Given the description of an element on the screen output the (x, y) to click on. 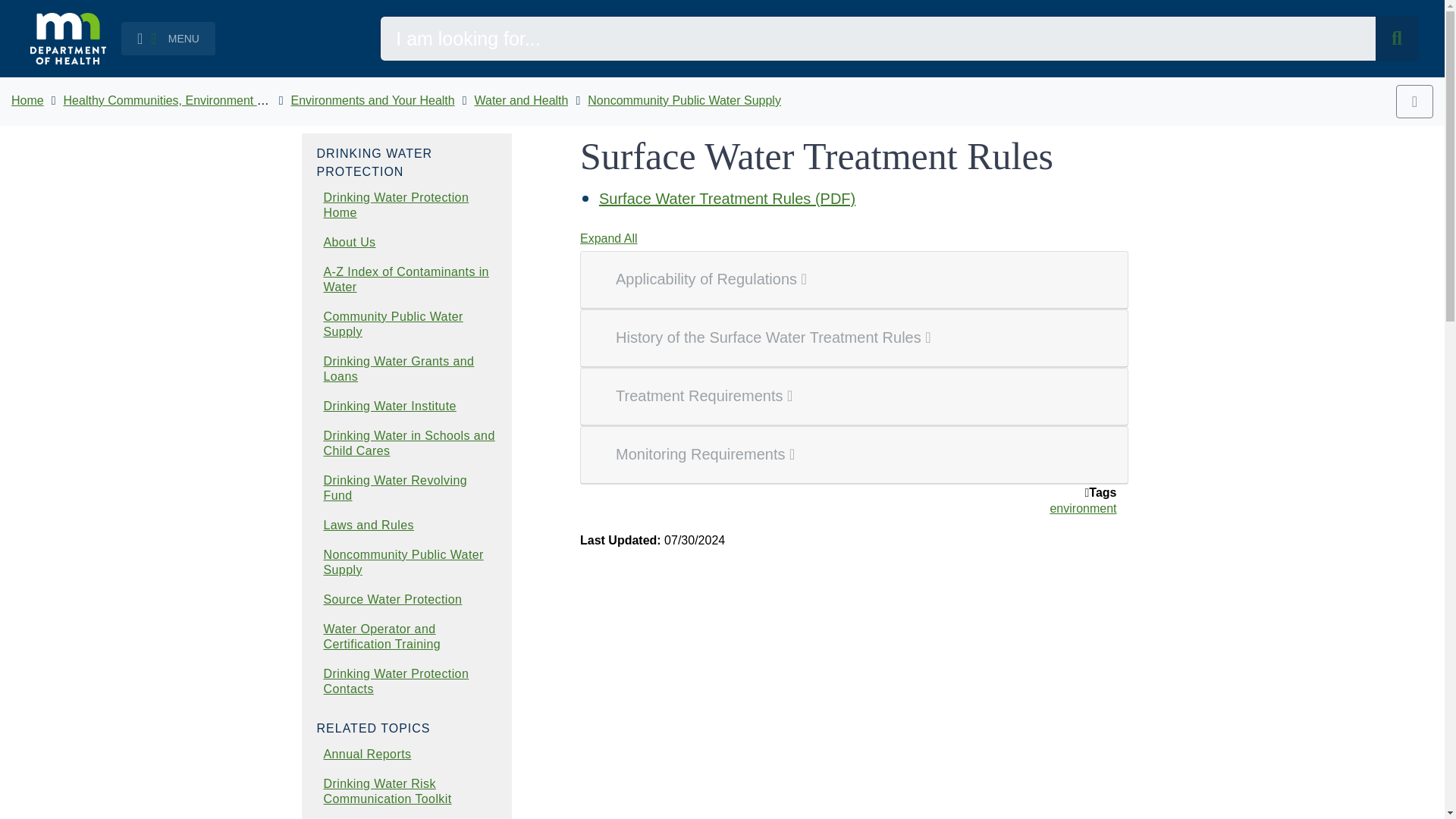
Print (1414, 101)
Environments and Your Health (372, 100)
Healthy Communities, Environment and Workplaces (203, 100)
Home (27, 100)
MENU (167, 38)
Water and Health (521, 100)
Home (27, 100)
Search MDH site (1396, 38)
Noncommunity Public Water Supply (684, 100)
